Given the description of an element on the screen output the (x, y) to click on. 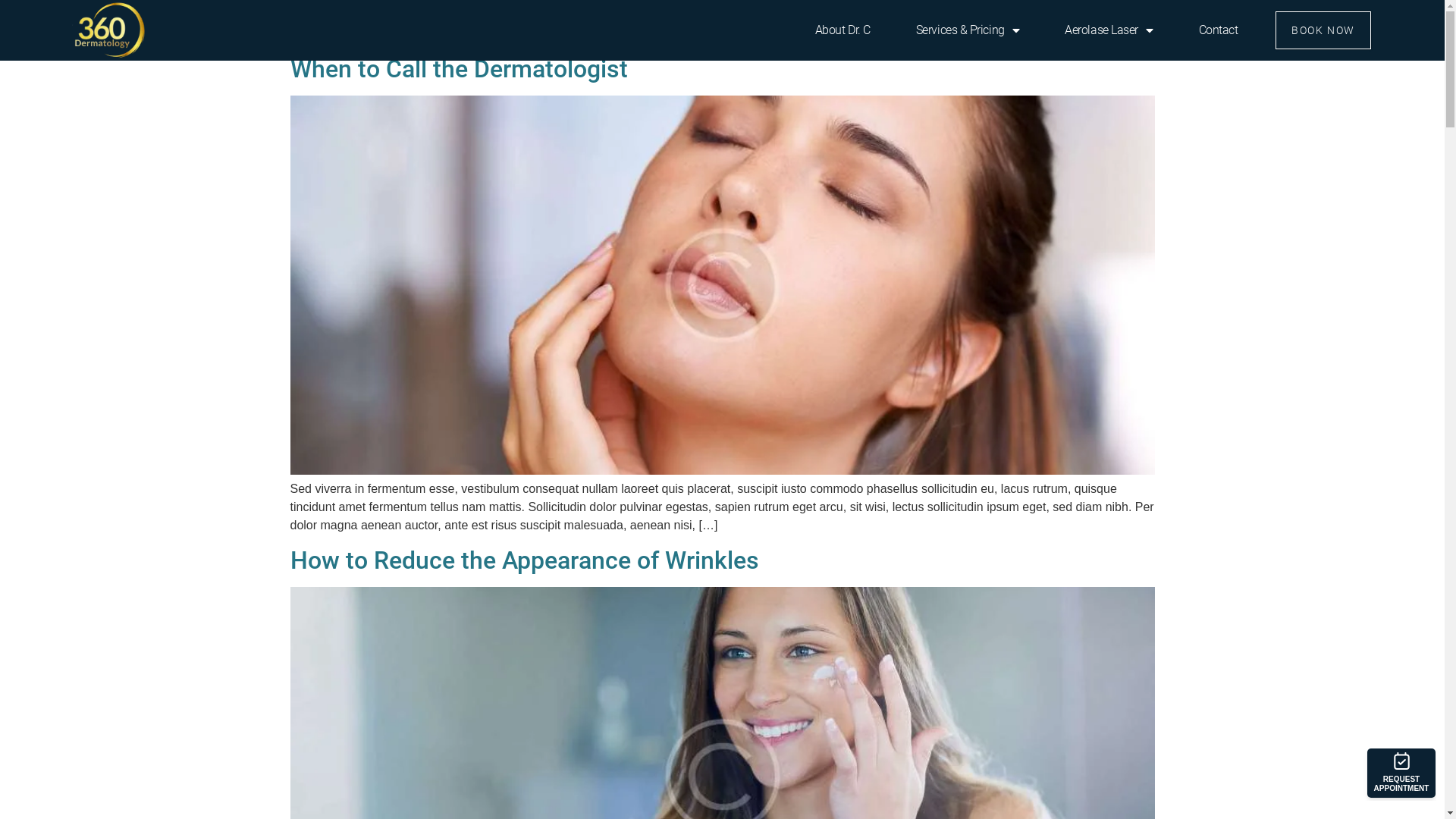
BOOK NOW Element type: text (1322, 30)
Contact Element type: text (1218, 30)
How to Reduce the Appearance of Wrinkles Element type: text (523, 560)
About Dr. C Element type: text (842, 30)
Services & Pricing Element type: text (967, 30)
When to Call the Dermatologist Element type: text (458, 68)
Aerolase Laser Element type: text (1108, 30)
EZ Scheduler Element type: hover (1398, 773)
